Given the description of an element on the screen output the (x, y) to click on. 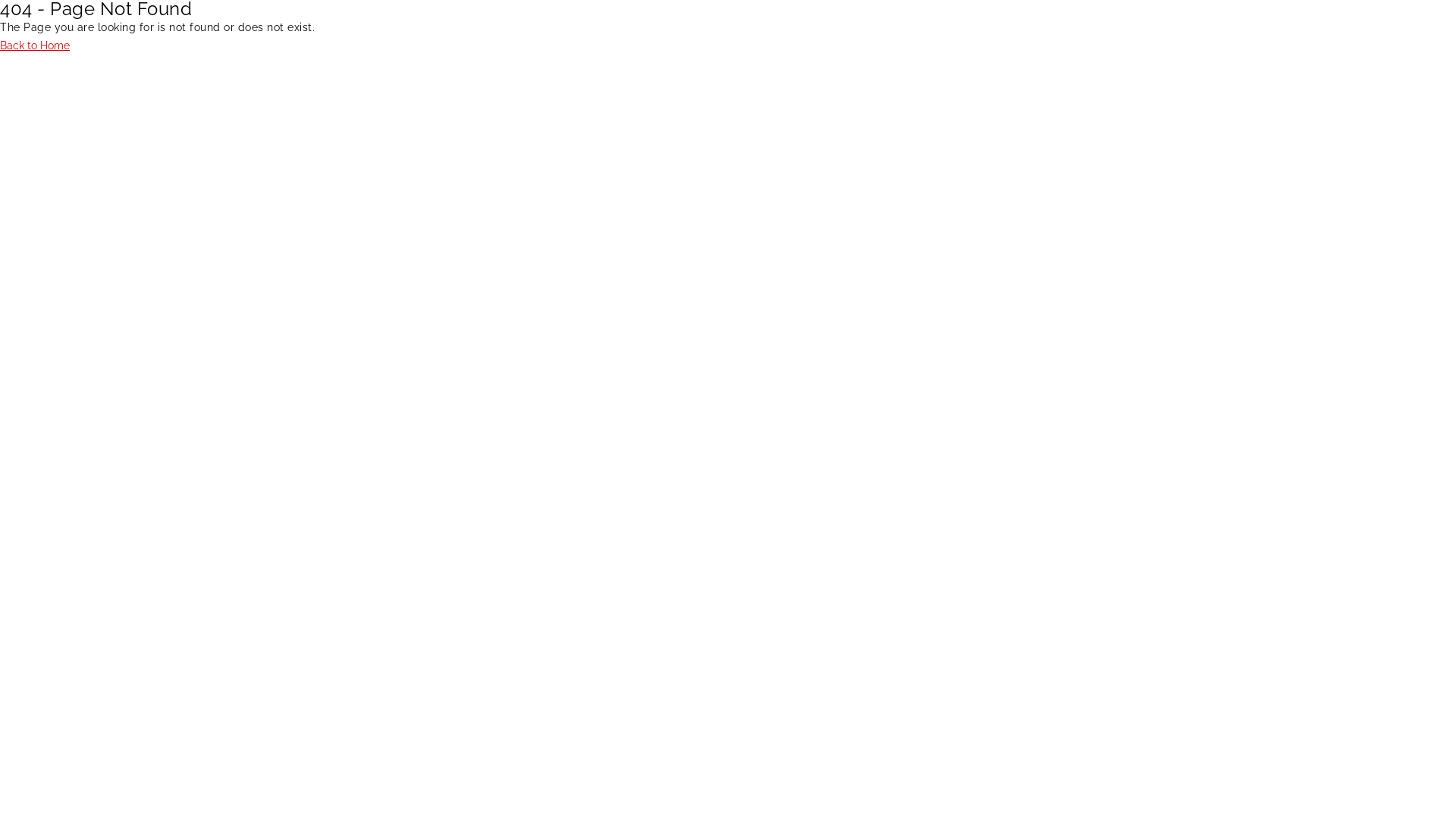
Back to Home Element type: text (34, 45)
